Given the description of an element on the screen output the (x, y) to click on. 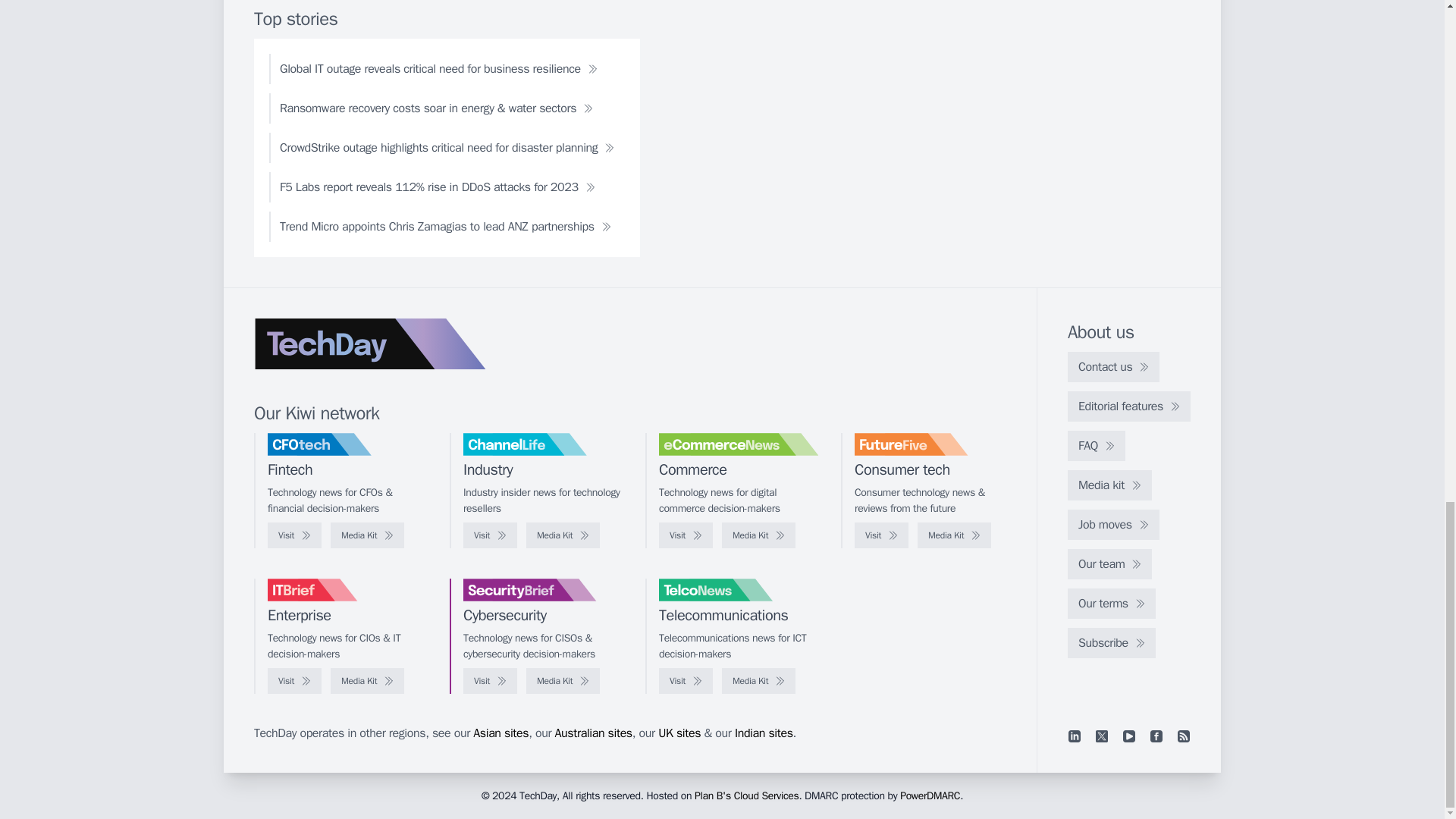
Media Kit (367, 534)
Media Kit (758, 534)
Media Kit (562, 534)
Visit (294, 534)
Visit (881, 534)
Trend Micro appoints Chris Zamagias to lead ANZ partnerships (445, 226)
Media Kit (954, 534)
Visit (489, 534)
Visit (686, 534)
